Given the description of an element on the screen output the (x, y) to click on. 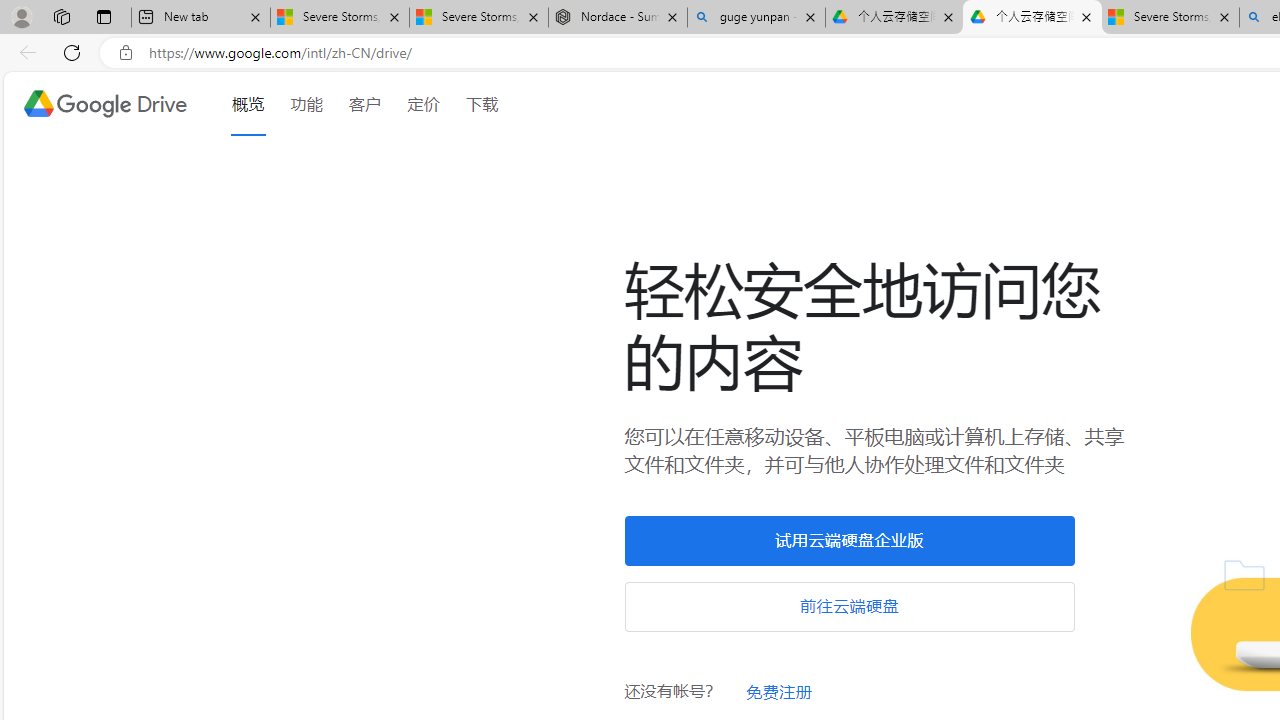
Google Drive (104, 103)
